Given the description of an element on the screen output the (x, y) to click on. 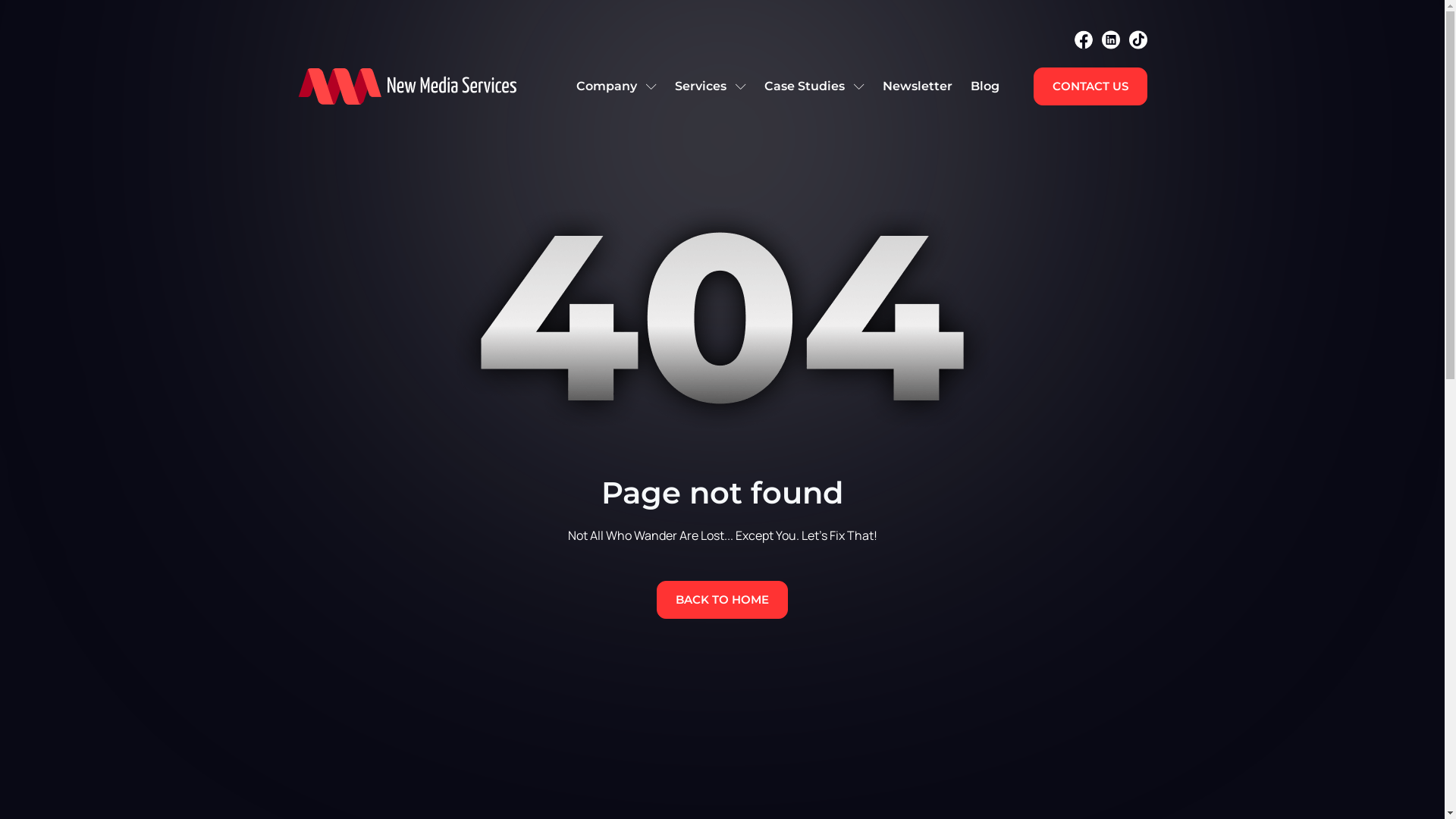
Company Element type: text (616, 86)
Newsletter Element type: text (917, 86)
Case Studies Element type: text (814, 86)
BACK TO HOME Element type: text (721, 599)
Blog Element type: text (984, 86)
CONTACT US Element type: text (1089, 86)
Services Element type: text (710, 86)
